Given the description of an element on the screen output the (x, y) to click on. 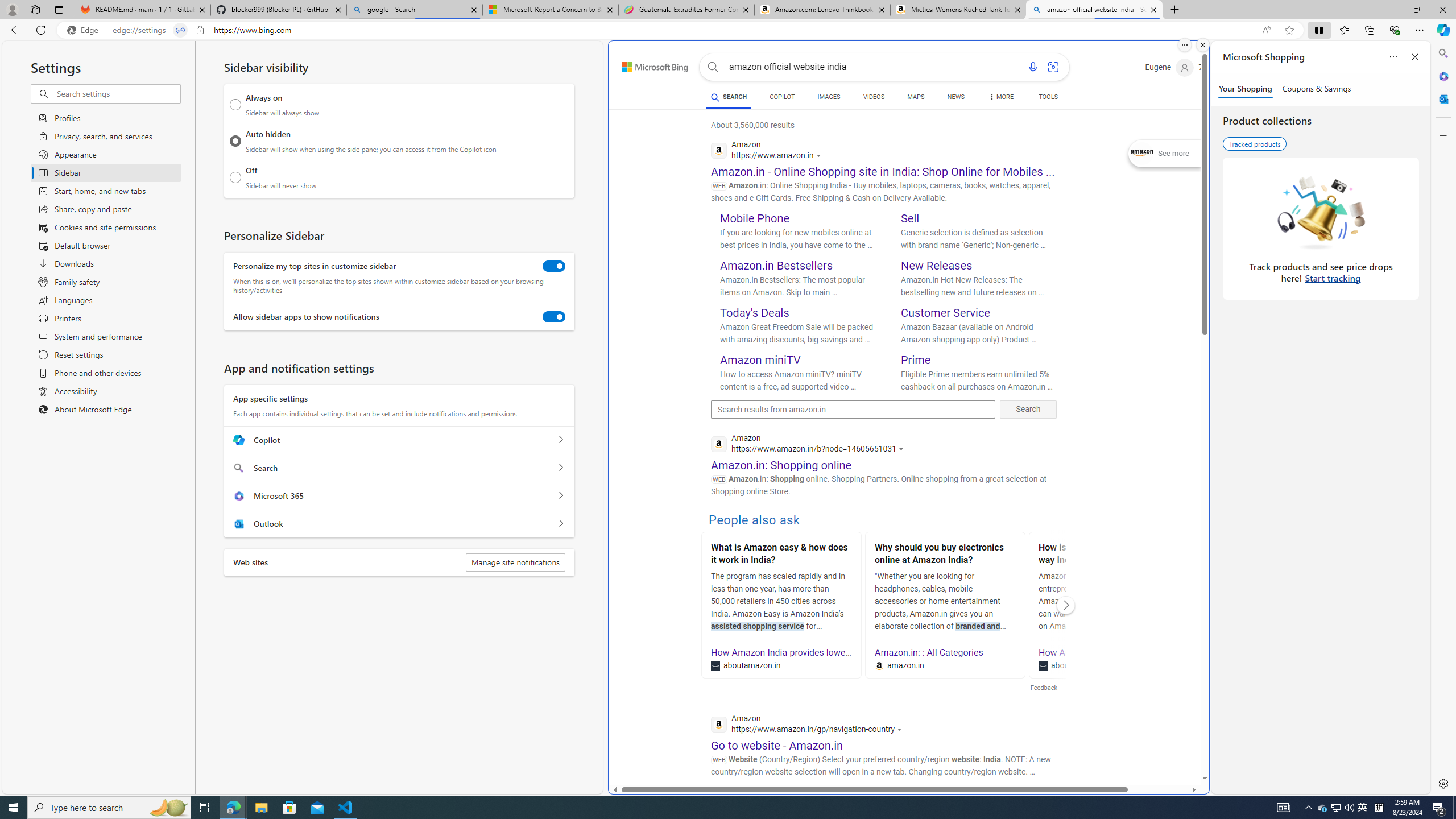
MAPS (915, 96)
SEARCH (728, 96)
More options. (1183, 45)
Dropdown Menu (1000, 96)
Eugene (1168, 67)
